Given the description of an element on the screen output the (x, y) to click on. 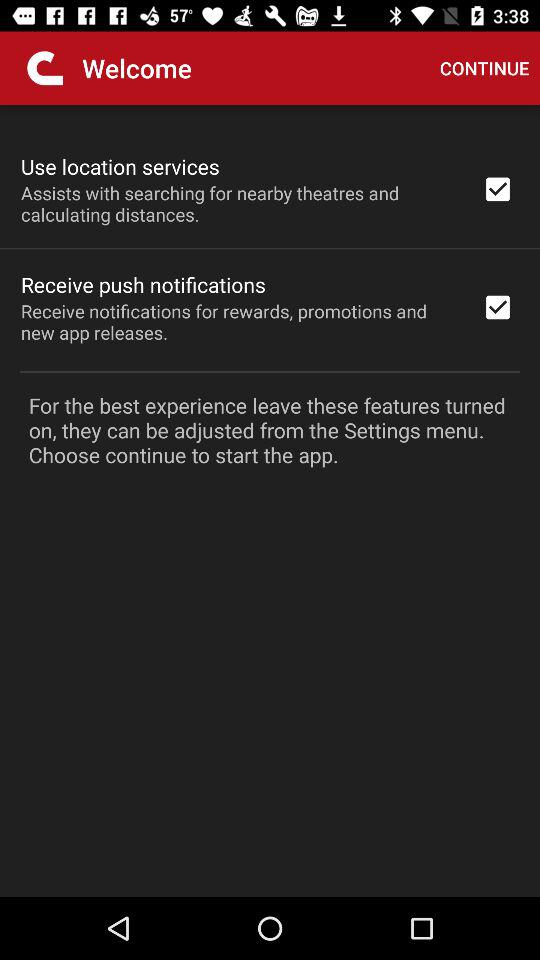
flip to assists with searching (238, 203)
